Given the description of an element on the screen output the (x, y) to click on. 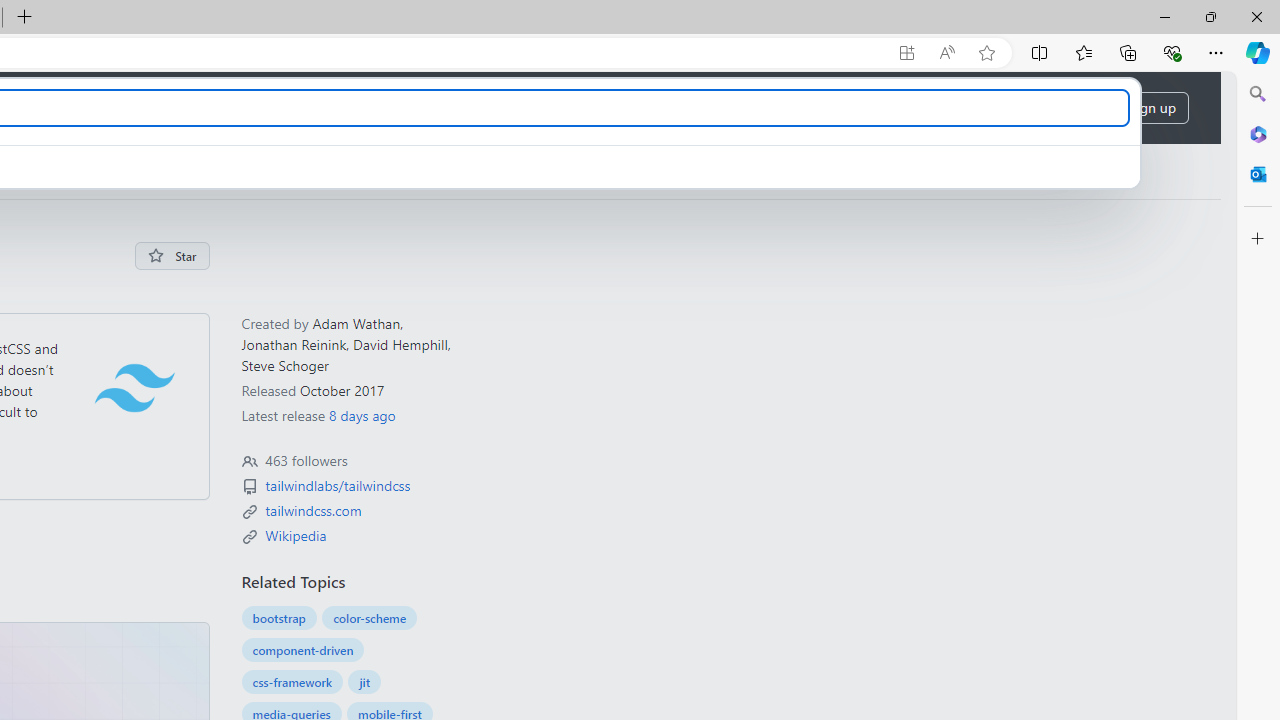
component-driven (302, 649)
jit (364, 682)
Topic followers (249, 462)
8 days ago (361, 415)
You must be signed in to star a repository (171, 255)
css-framework (292, 682)
tailwind logo (134, 387)
